Given the description of an element on the screen output the (x, y) to click on. 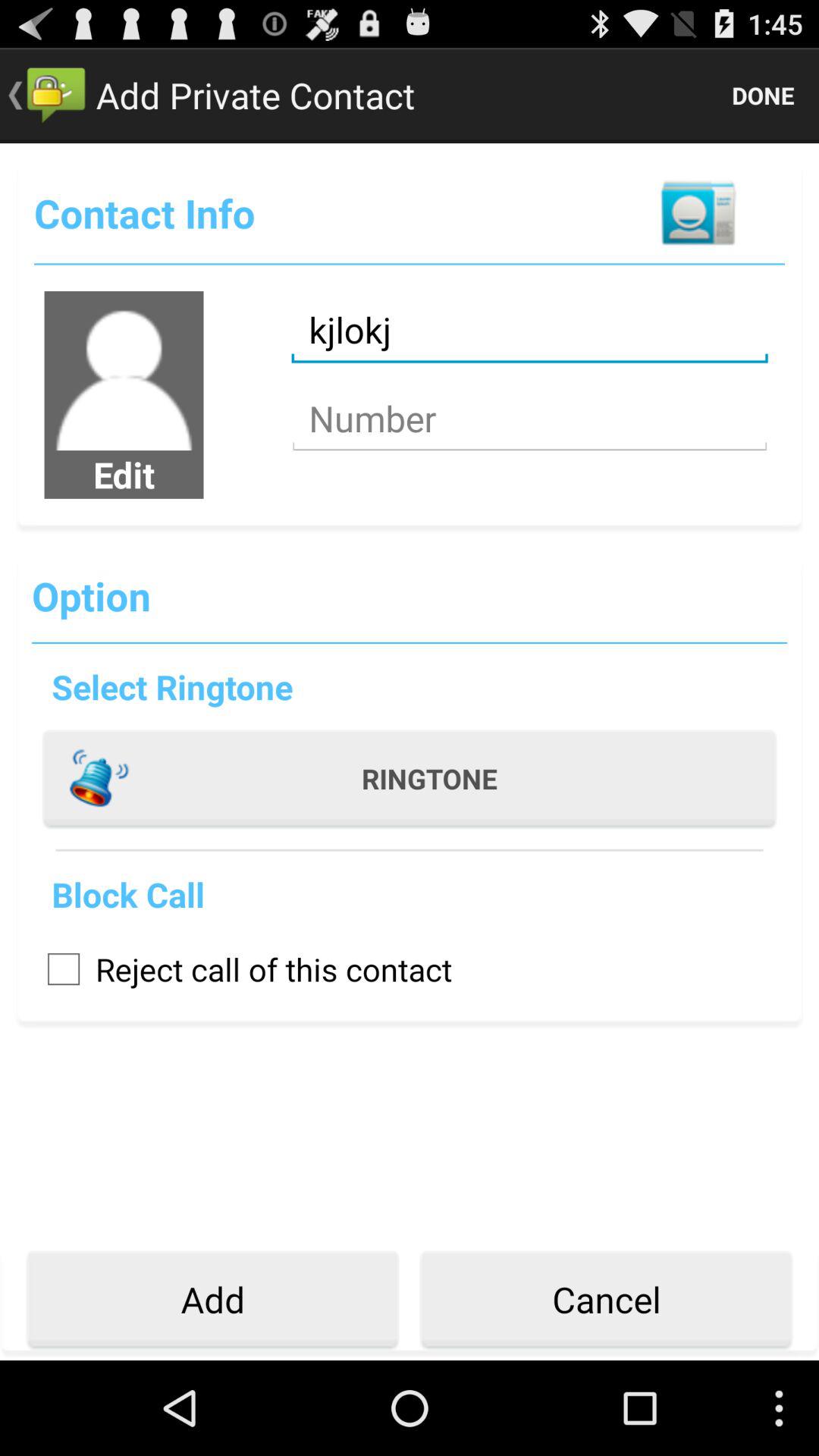
open cancel (605, 1300)
